Given the description of an element on the screen output the (x, y) to click on. 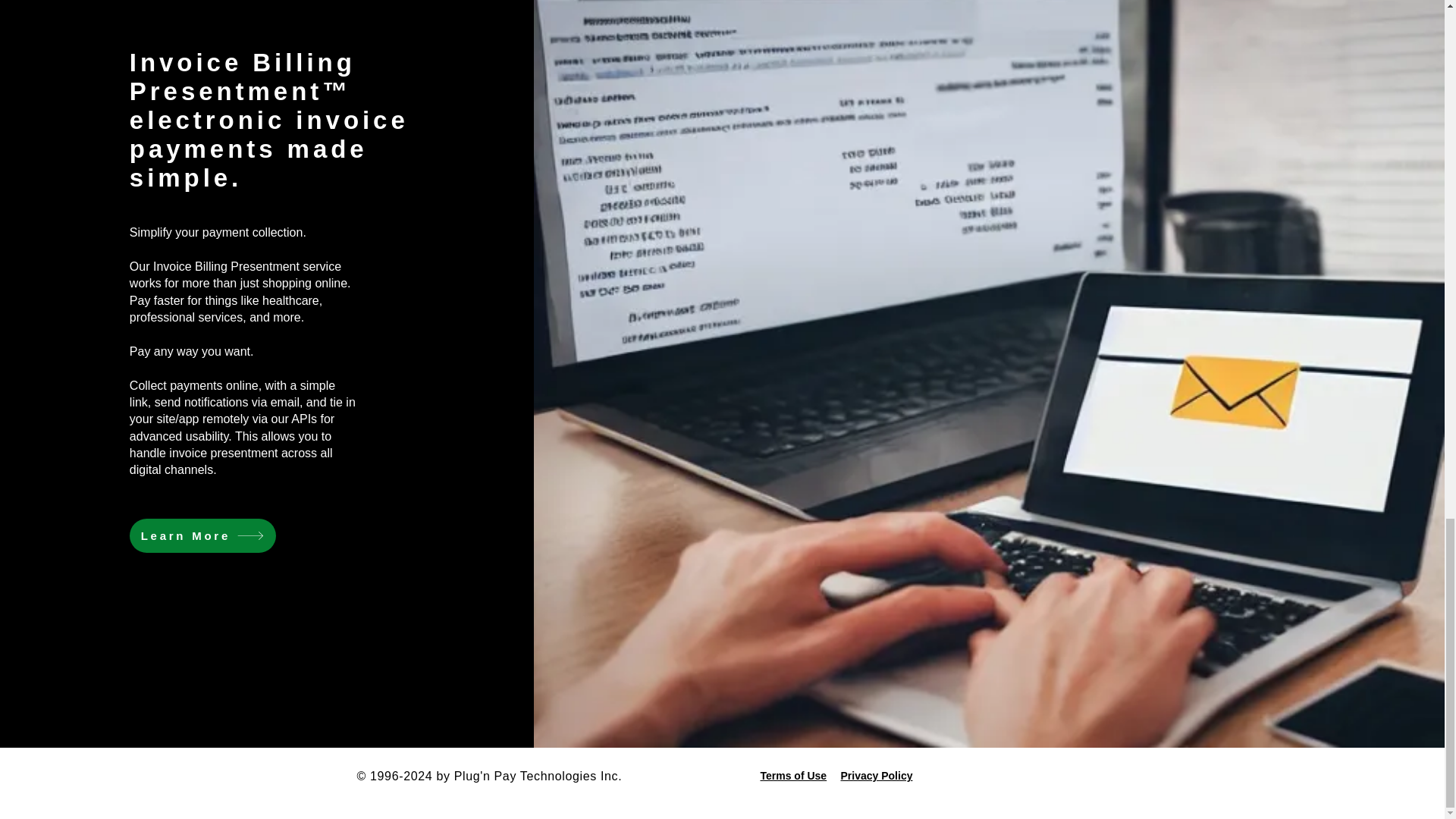
Terms of Use (793, 775)
Learn More (202, 535)
Privacy Policy (876, 775)
